Given the description of an element on the screen output the (x, y) to click on. 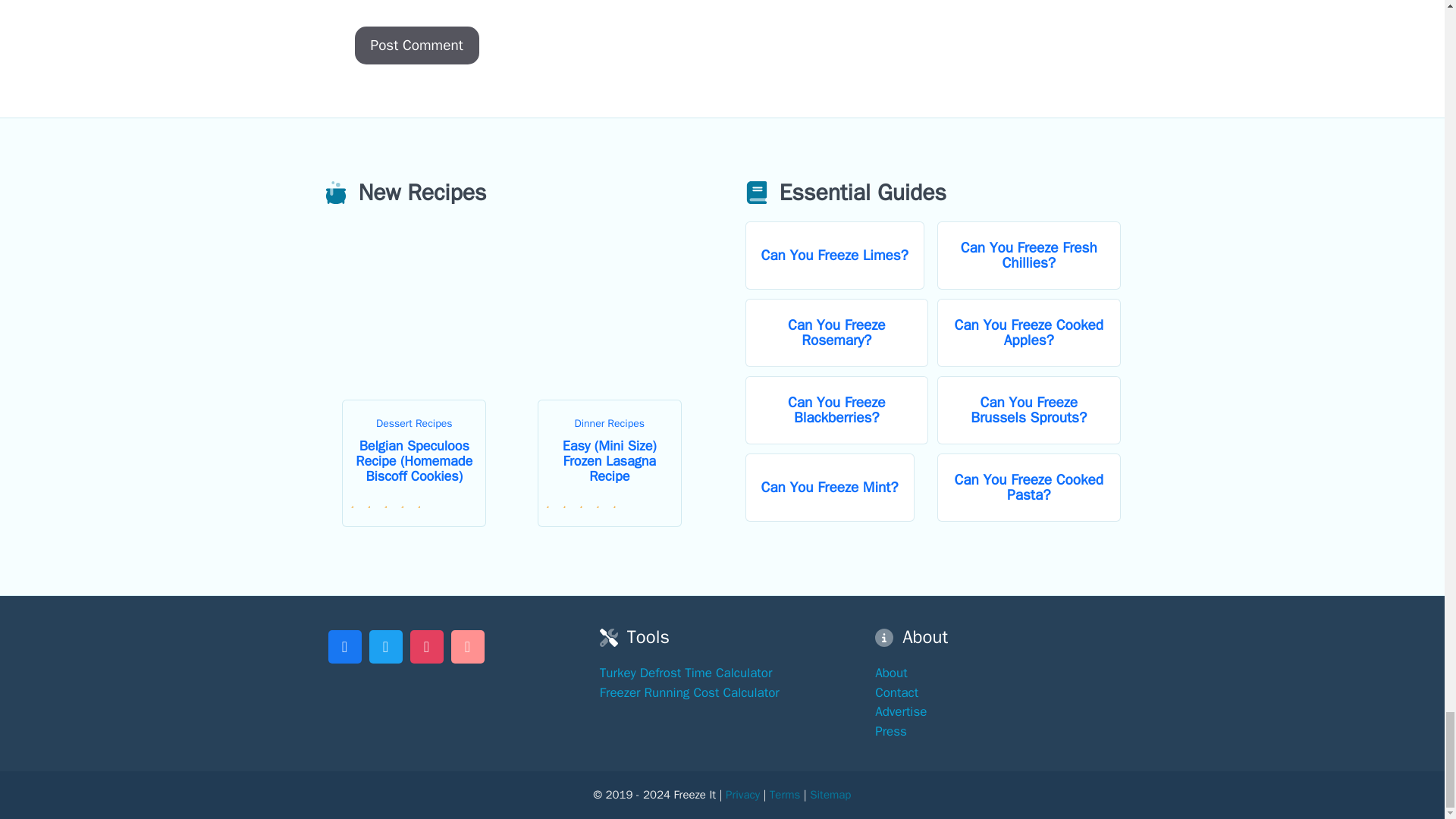
Youtube (466, 644)
Twitter (385, 644)
Facebook (344, 644)
Instagram (426, 644)
Post Comment (417, 45)
